Given the description of an element on the screen output the (x, y) to click on. 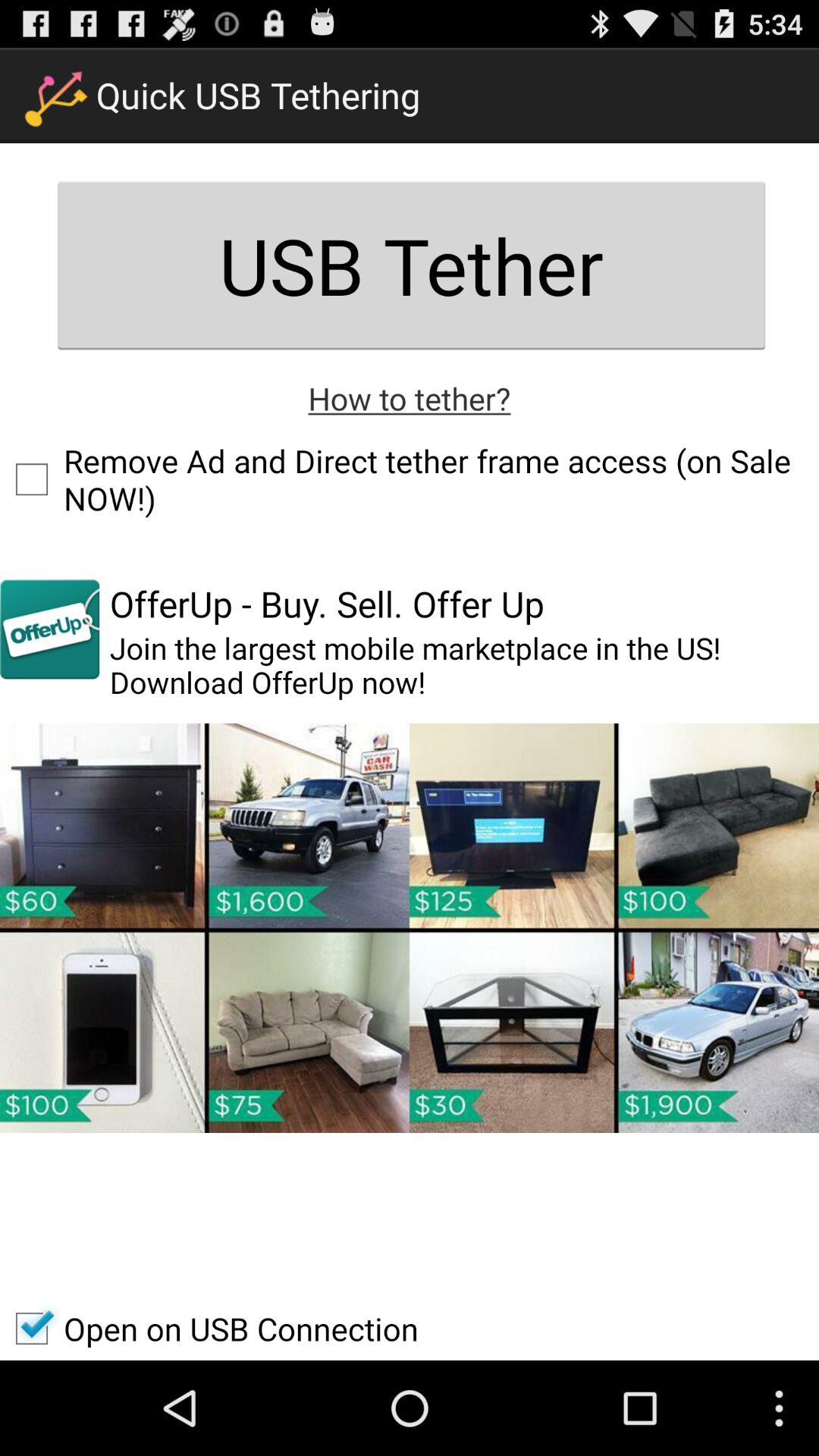
launch the how to tether? icon (409, 398)
